Given the description of an element on the screen output the (x, y) to click on. 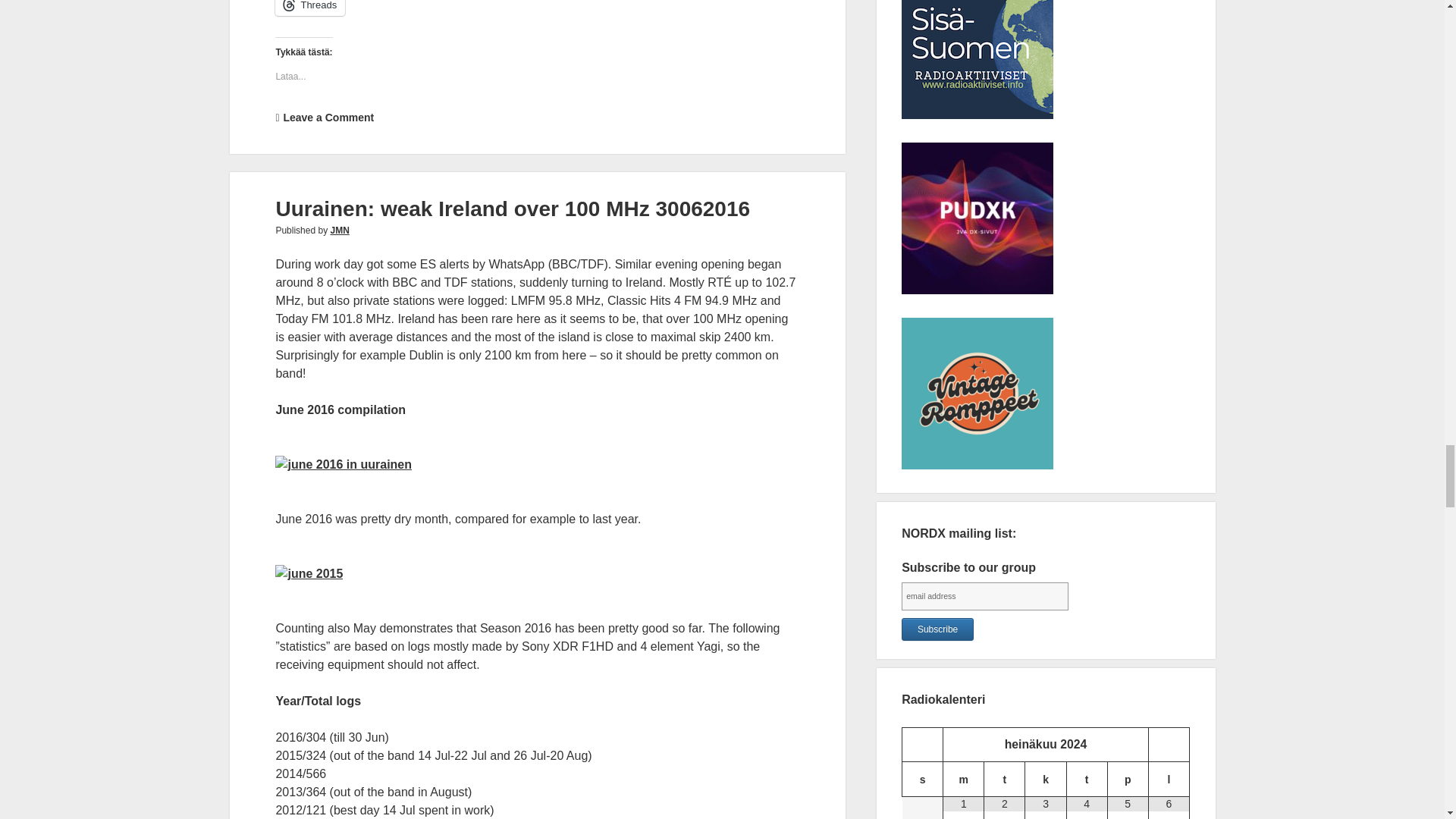
Subscribe (937, 629)
